Given the description of an element on the screen output the (x, y) to click on. 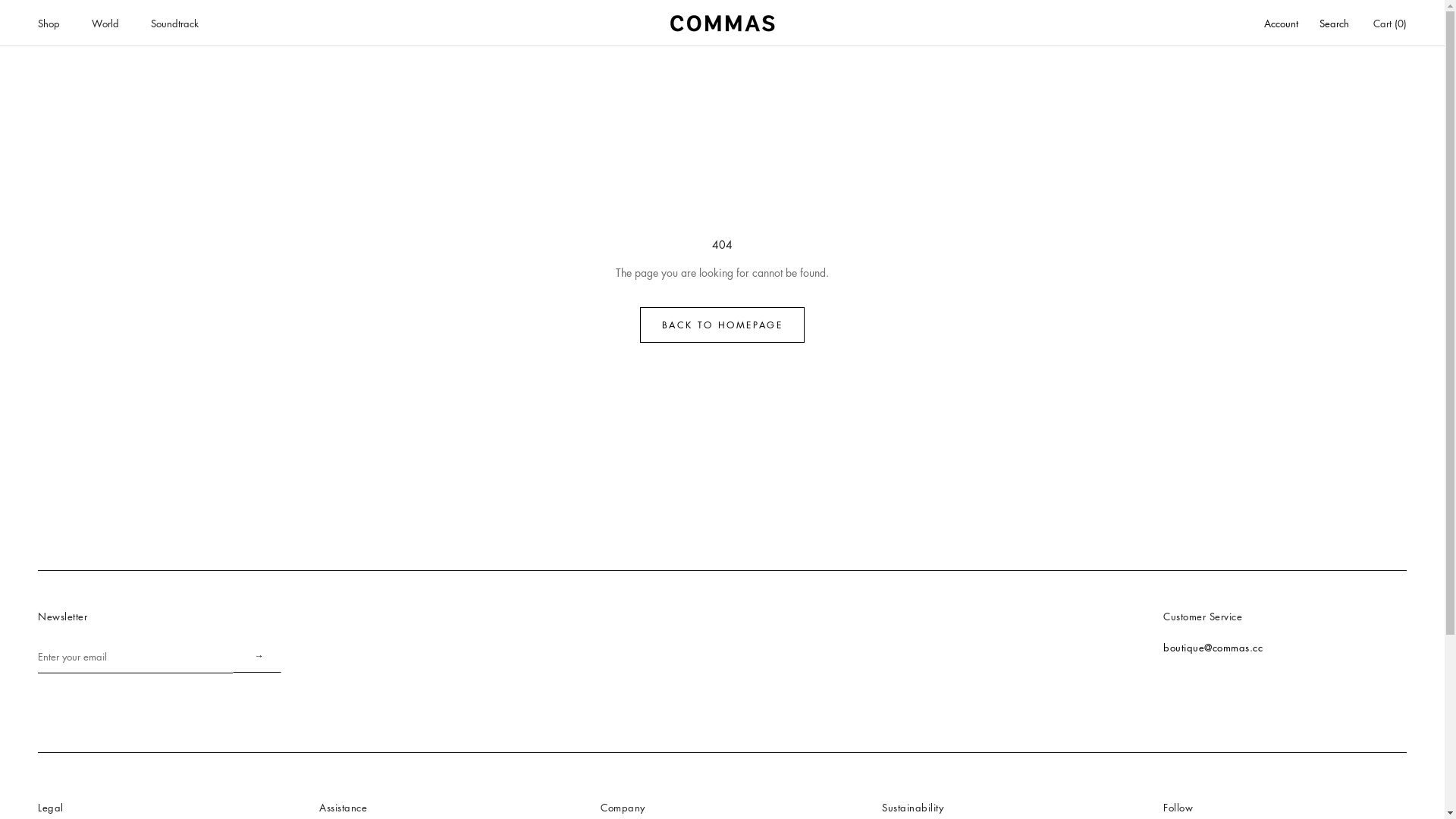
Shop
Shop Element type: text (48, 22)
BACK TO HOMEPAGE Element type: text (722, 324)
Soundtrack
Soundtrack Element type: text (174, 22)
Cart (0) Element type: text (1389, 22)
Search Element type: text (1334, 23)
Account Element type: text (1281, 23)
World
World Element type: text (105, 22)
